Given the description of an element on the screen output the (x, y) to click on. 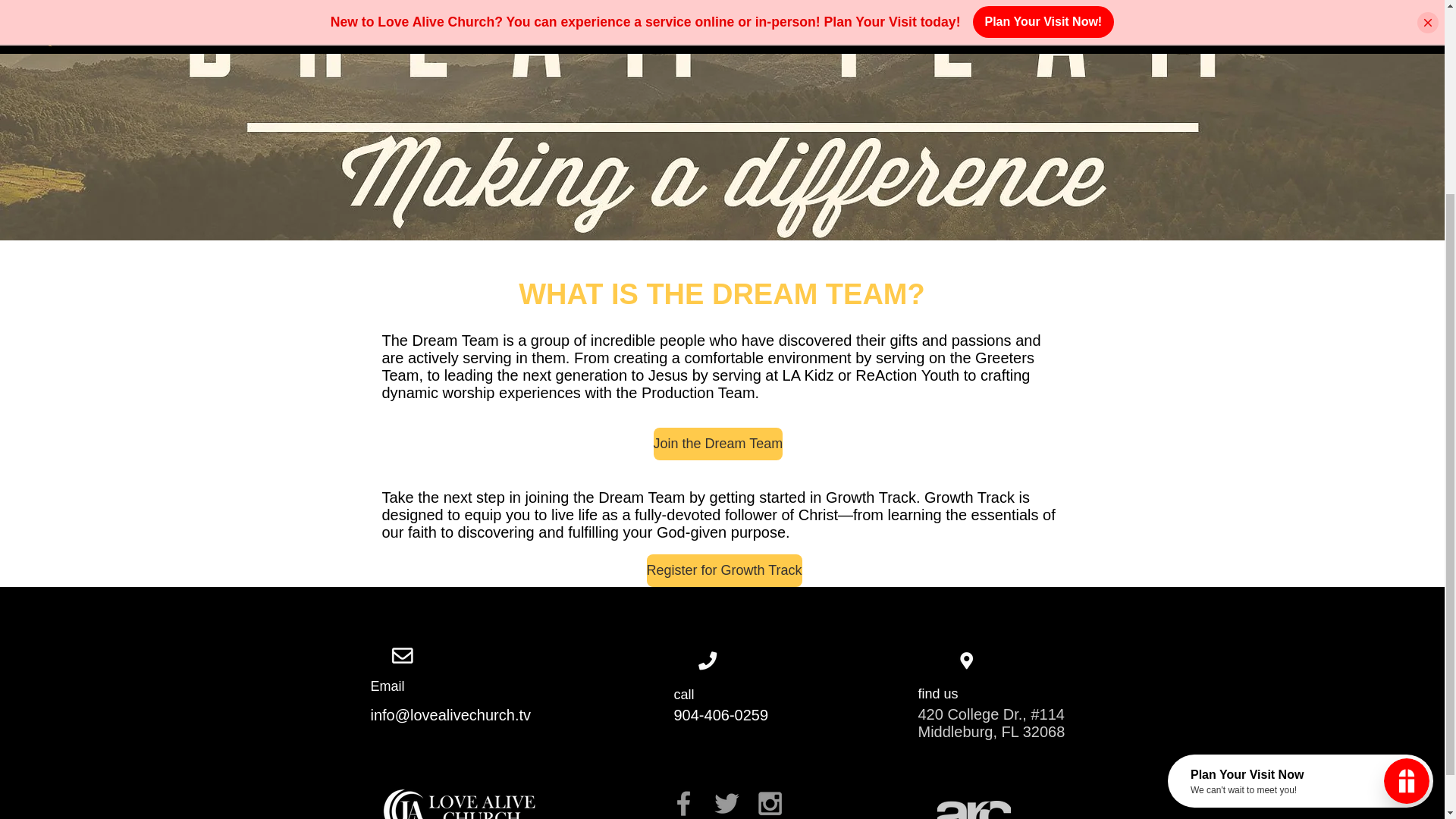
Join the Dream Team (718, 443)
Register for Growth Track (724, 570)
